Given the description of an element on the screen output the (x, y) to click on. 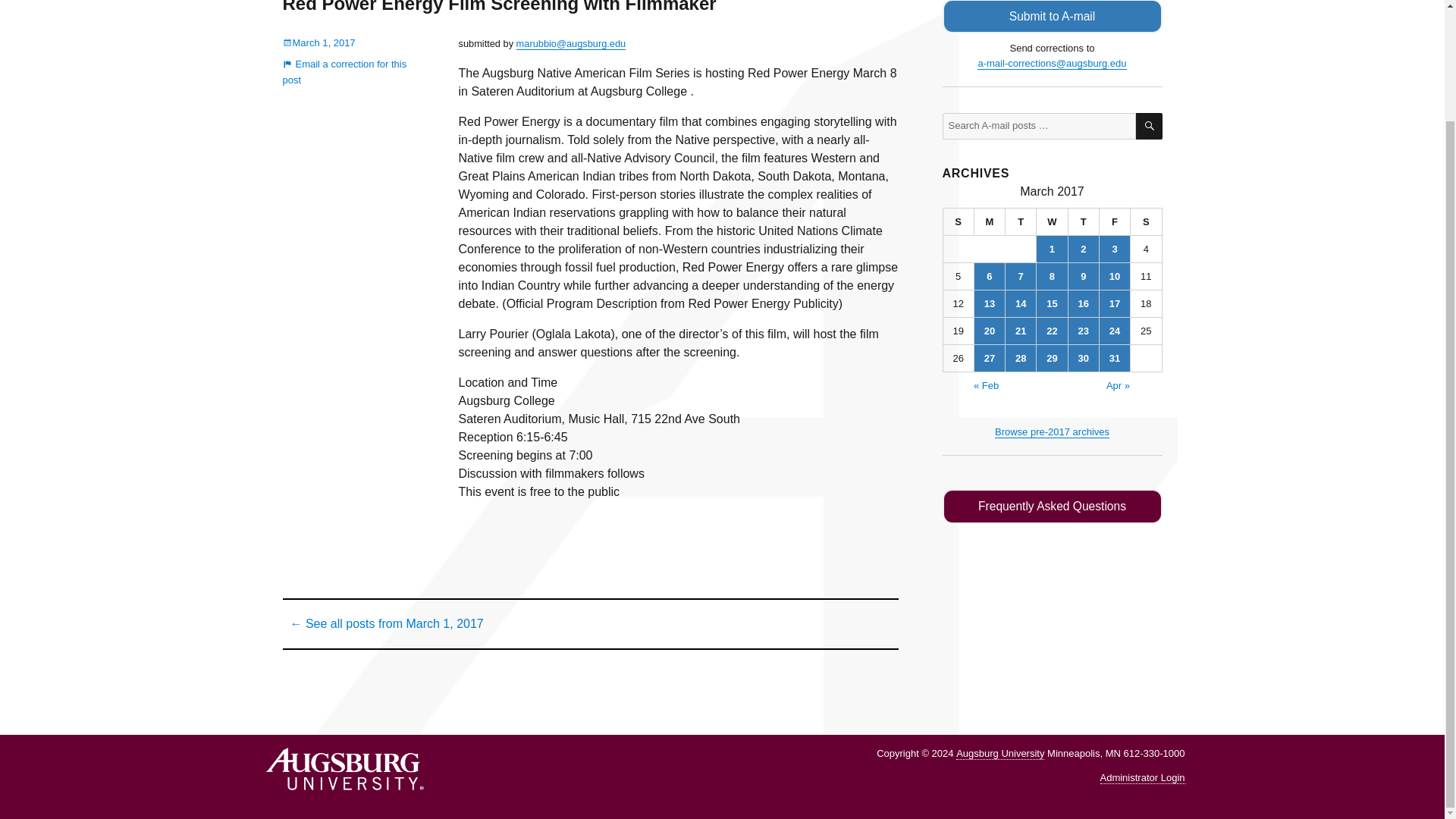
7 (1020, 275)
Saturday (1146, 221)
6 (989, 275)
21 (1020, 330)
8 (1051, 275)
27 (989, 357)
9 (1083, 275)
28 (1020, 357)
Sunday (958, 221)
17 (1114, 303)
